Given the description of an element on the screen output the (x, y) to click on. 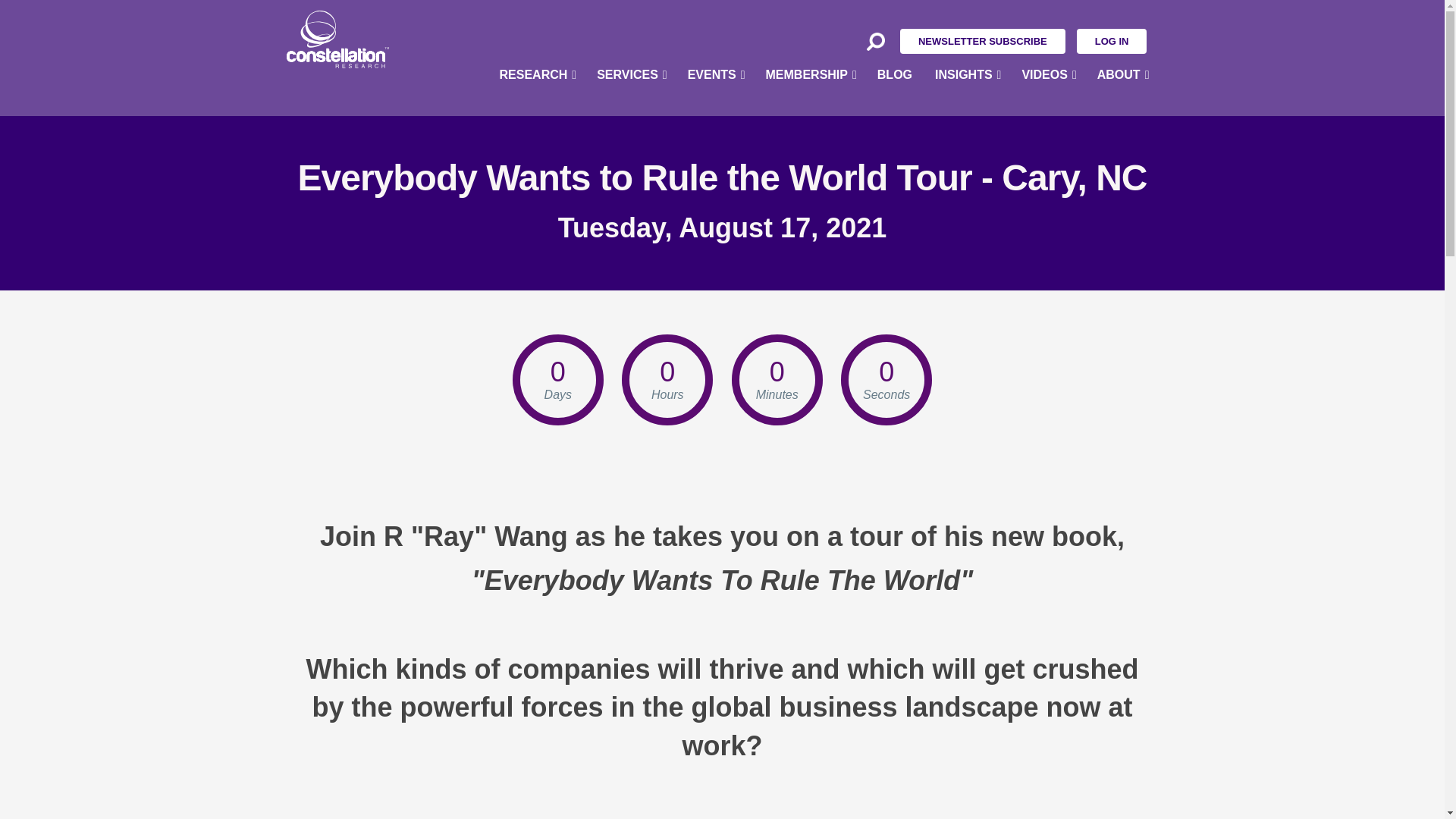
Analysts (536, 207)
Constellation Executive Network membership (810, 74)
Actionable advice about developments in technology (966, 105)
RESEARCH (536, 74)
Research Policies (536, 310)
Research Services (536, 344)
Research Library (536, 105)
The Innovation Summit for the Enterprise (715, 173)
Constellation research library (536, 105)
